Given the description of an element on the screen output the (x, y) to click on. 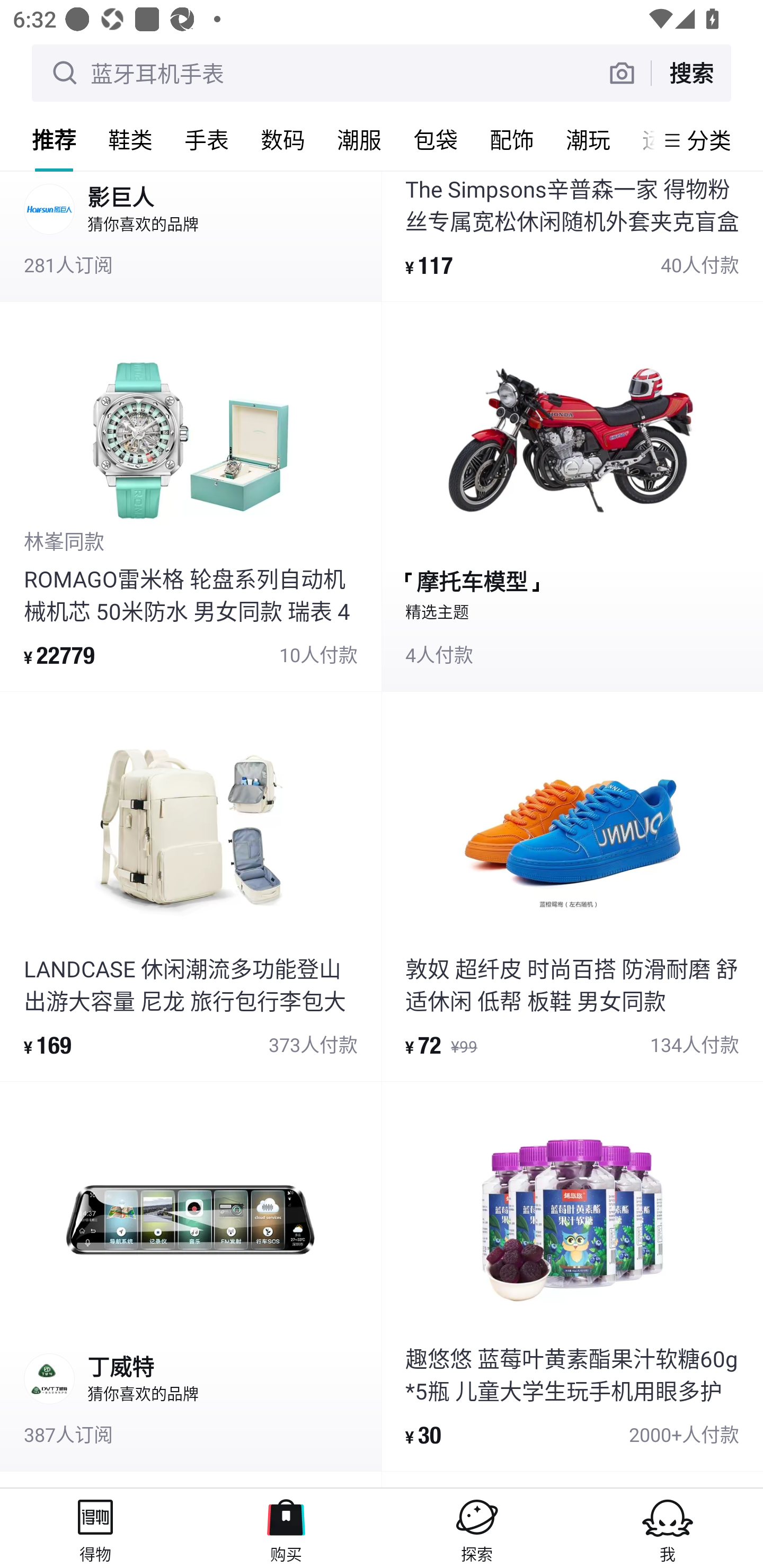
搜索 (690, 72)
推荐 (54, 139)
鞋类 (130, 139)
手表 (206, 139)
数码 (282, 139)
潮服 (359, 139)
包袋 (435, 139)
配饰 (511, 139)
潮玩 (588, 139)
分类 (708, 139)
影巨人 猜你喜欢的品牌 281人订阅 (190, 235)
摩托车模型 精选主题 4人付款 (572, 496)
丁威特 猜你喜欢的品牌 387人订阅 (190, 1275)
得物 (95, 1528)
购买 (285, 1528)
探索 (476, 1528)
我 (667, 1528)
